Given the description of an element on the screen output the (x, y) to click on. 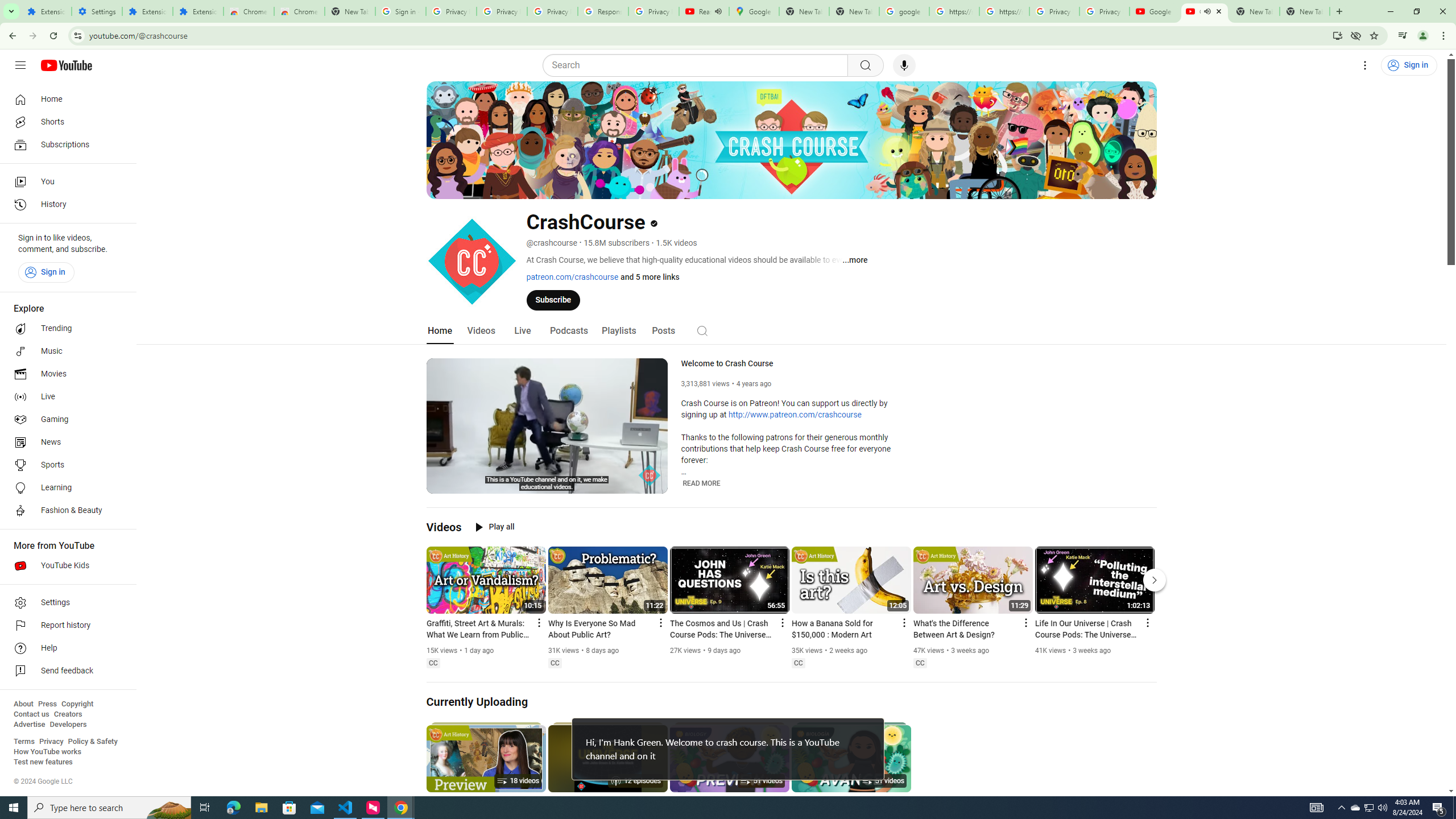
READ MORE (701, 483)
Google - YouTube (1154, 11)
Subtitles/closed captions unavailable (609, 483)
Developers (68, 724)
Shorts (64, 121)
Sign in - Google Accounts (399, 11)
Trending (64, 328)
Copyright (77, 703)
https://scholar.google.com/ (954, 11)
Guide (20, 65)
